Given the description of an element on the screen output the (x, y) to click on. 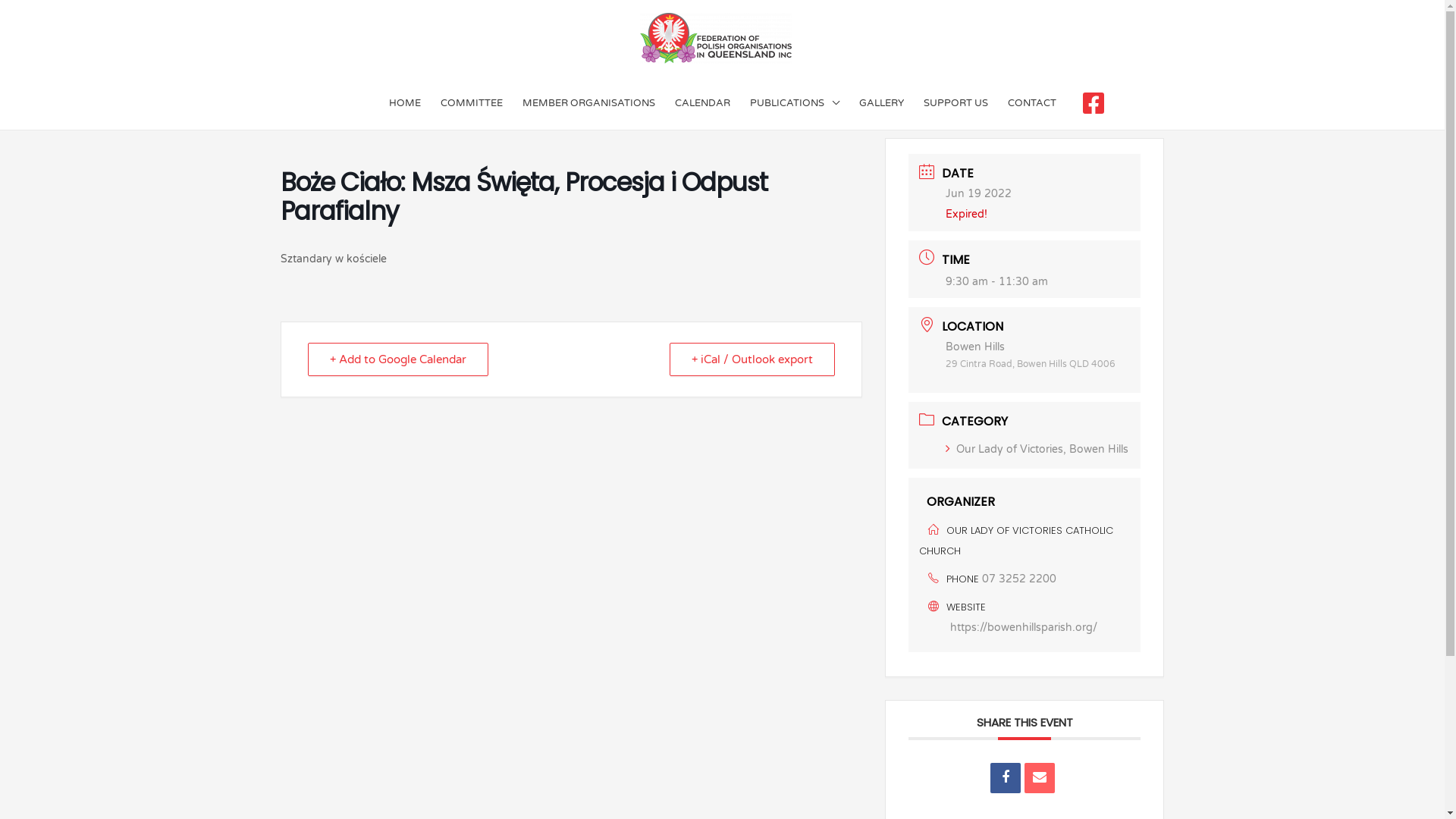
COMMITTEE Element type: text (471, 102)
Share on Facebook Element type: hover (1005, 777)
HOME Element type: text (404, 102)
https://bowenhillsparish.org/ Element type: text (1023, 627)
Email Element type: hover (1039, 777)
MEMBER ORGANISATIONS Element type: text (588, 102)
PUBLICATIONS Element type: text (794, 102)
GALLERY Element type: text (881, 102)
+ iCal / Outlook export Element type: text (751, 359)
CONTACT Element type: text (1031, 102)
+ Add to Google Calendar Element type: text (397, 359)
SUPPORT US Element type: text (955, 102)
CALENDAR Element type: text (701, 102)
07 3252 2200 Element type: text (1019, 578)
Our Lady of Victories, Bowen Hills Element type: text (1036, 448)
